Given the description of an element on the screen output the (x, y) to click on. 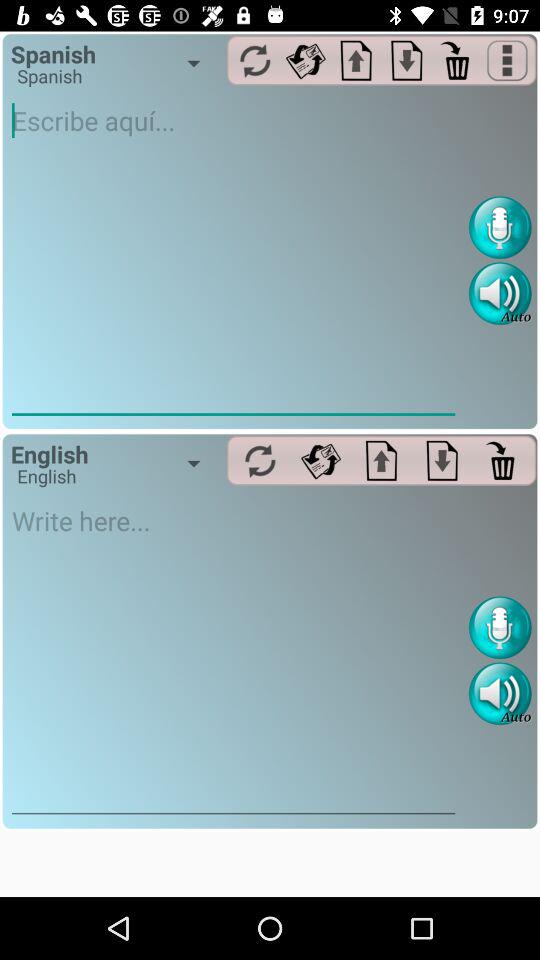
speak out the english word (499, 693)
